Given the description of an element on the screen output the (x, y) to click on. 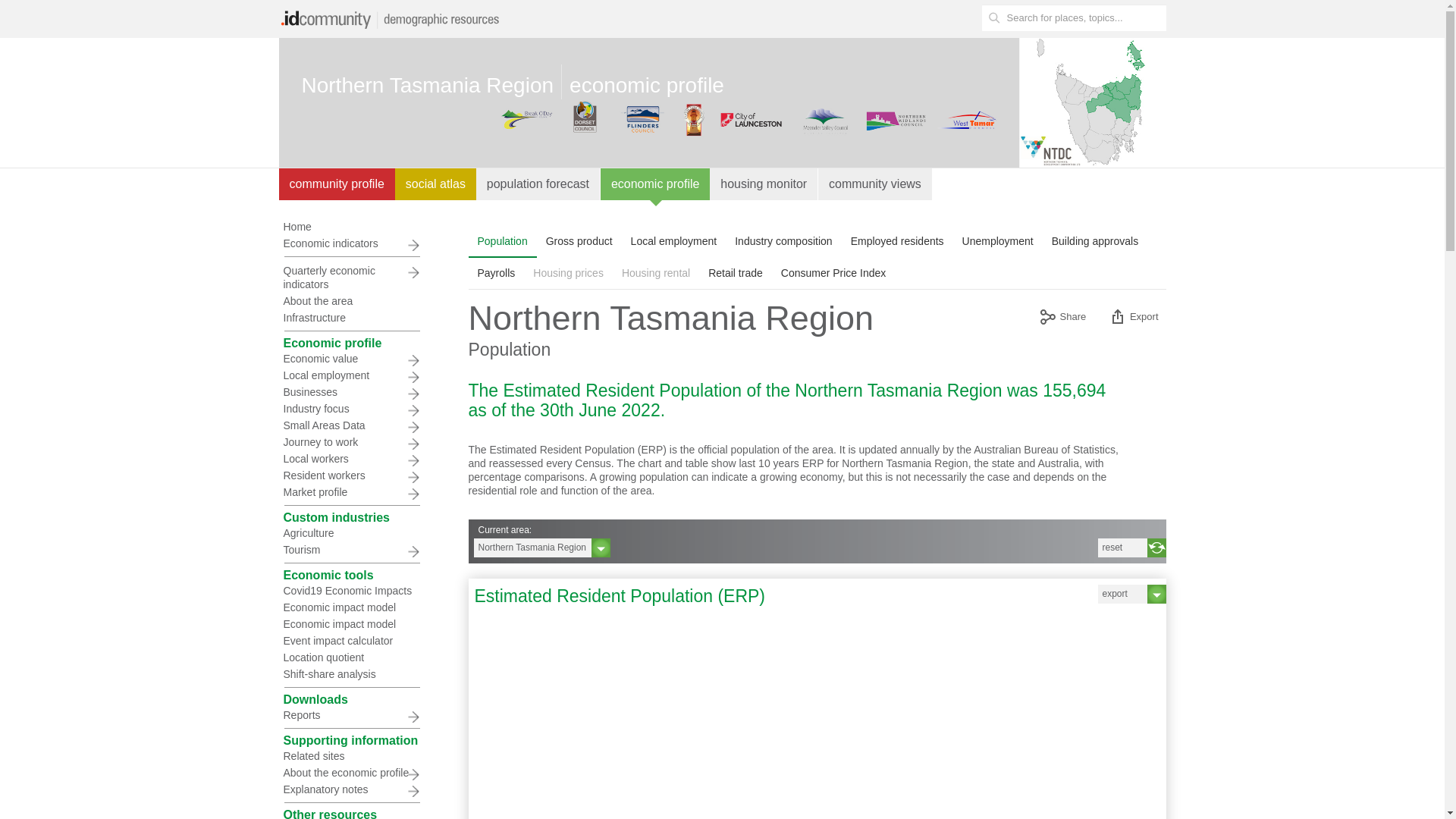
Unemployment Element type: text (997, 241)
Local workers
  Element type: text (351, 458)
Retail trade Element type: text (735, 272)
social atlas Element type: text (435, 184)
Share Element type: text (1062, 318)
Journey to work
  Element type: text (351, 441)
Export Element type: text (1133, 318)
Gross product Element type: text (578, 241)
community views Element type: text (875, 184)
Home Element type: text (351, 226)
export Element type: text (1132, 593)
Small Areas Data
  Element type: text (351, 425)
Housing rental Element type: text (655, 272)
Tourism
  Element type: text (351, 549)
Location quotient Element type: text (351, 657)
Related sites Element type: text (351, 755)
Industry focus
  Element type: text (351, 408)
Infrastructure Element type: text (351, 317)
idc-logo Element type: text (392, 18)
Economic impact model Element type: text (351, 607)
Agriculture Element type: text (351, 532)
Employed residents Element type: text (897, 241)
Payrolls Element type: text (496, 272)
Consumer Price Index Element type: text (833, 272)
Reports
  Element type: text (351, 714)
Industry composition Element type: text (782, 241)
Shift-share analysis Element type: text (351, 673)
About the economic profile
  Element type: text (351, 772)
About the area Element type: text (351, 300)
Building approvals Element type: text (1094, 241)
Northern Tasmania Region Element type: text (541, 547)
Local employment
  Element type: text (351, 375)
Northern Tasmania Region website Element type: hover (1044, 101)
community profile Element type: text (337, 184)
reset Element type: text (1132, 547)
Economic indicators
  Element type: text (351, 243)
Market profile
  Element type: text (351, 491)
Quarterly economic indicators
  Element type: text (351, 277)
Economic value
  Element type: text (351, 358)
Event impact calculator Element type: text (351, 640)
population forecast Element type: text (538, 184)
Housing prices Element type: text (568, 272)
Population Element type: text (502, 241)
Local employment Element type: text (673, 241)
Economic impact model Element type: text (351, 623)
Explanatory notes
  Element type: text (351, 789)
housing monitor Element type: text (763, 184)
Resident workers
  Element type: text (351, 475)
Businesses
  Element type: text (351, 391)
Covid19 Economic Impacts Element type: text (351, 590)
economic profile Element type: text (655, 184)
